Given the description of an element on the screen output the (x, y) to click on. 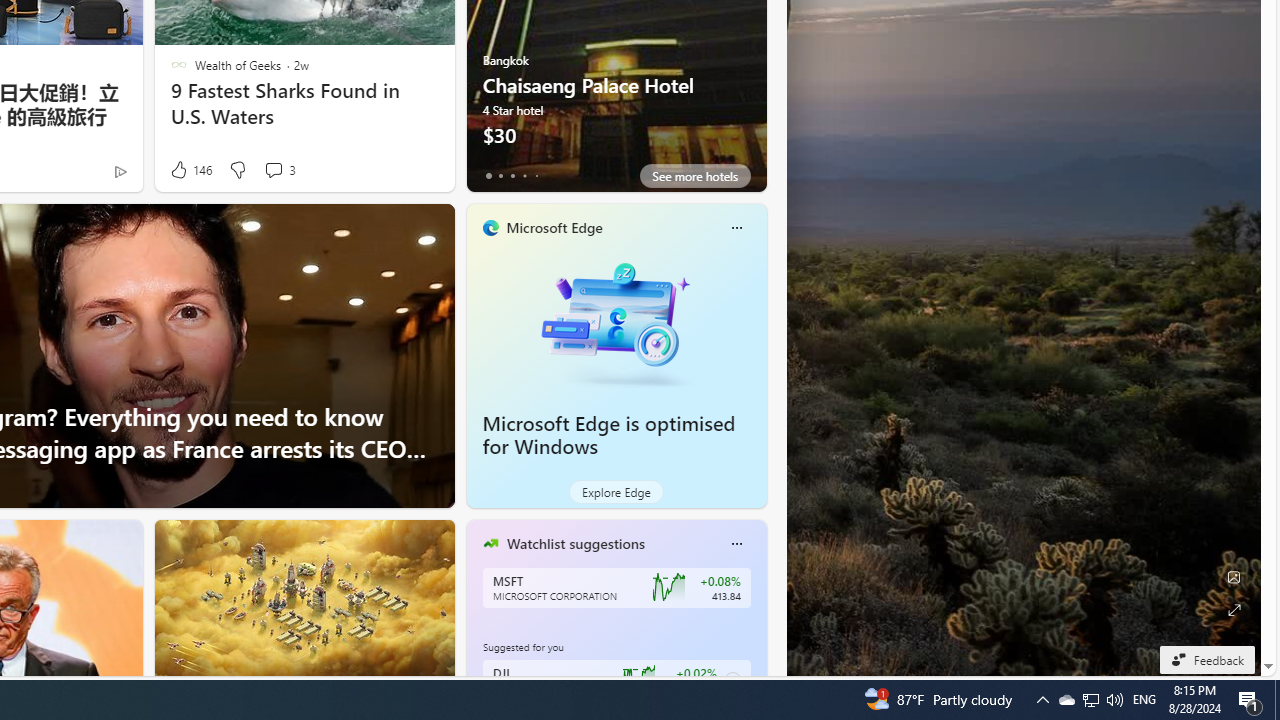
tab-2 (511, 175)
tab-0 (488, 175)
146 Like (190, 170)
View comments 3 Comment (273, 169)
Microsoft Edge (553, 227)
tab-1 (500, 175)
Class: icon-img (736, 543)
